Given the description of an element on the screen output the (x, y) to click on. 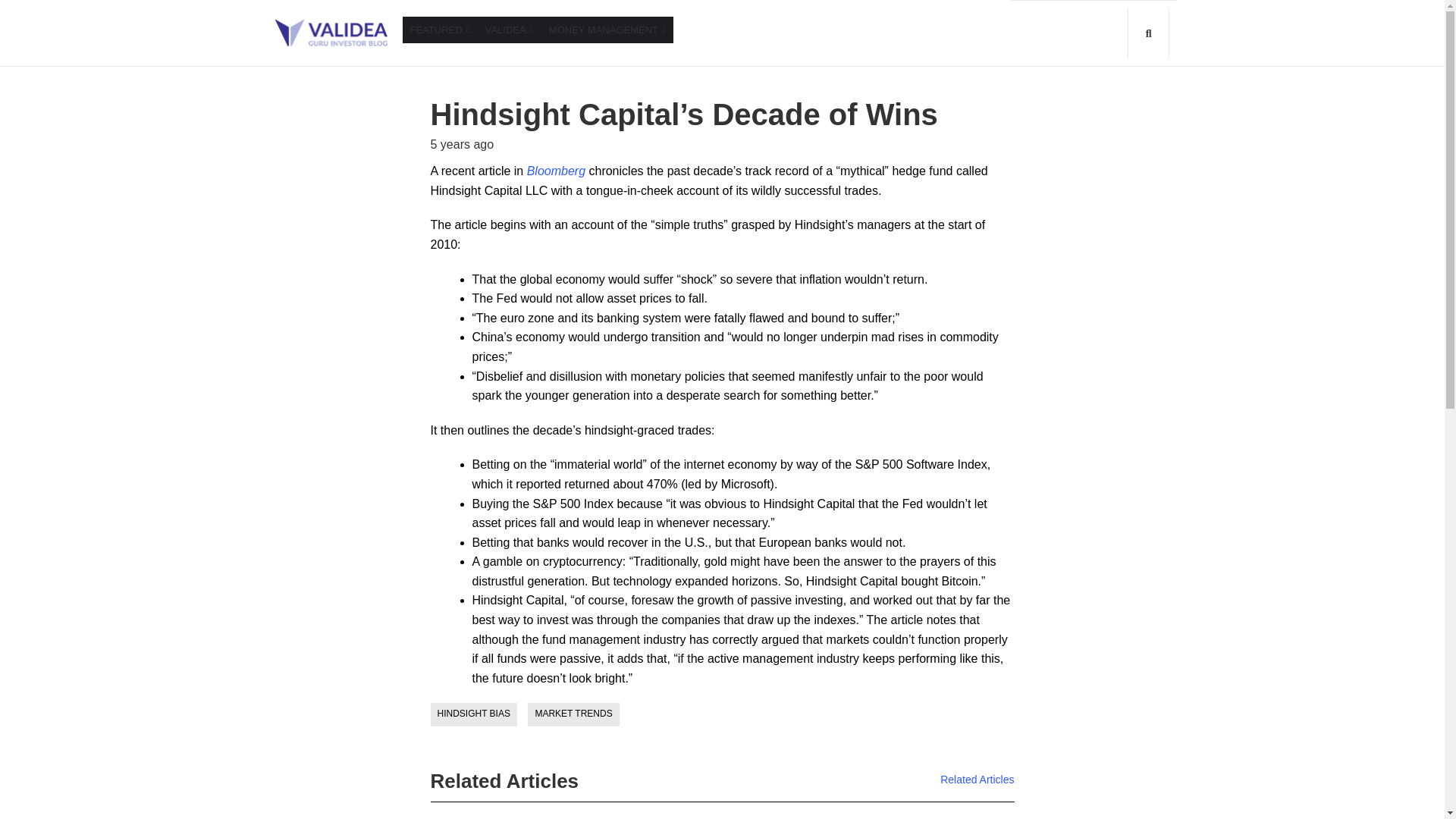
5 years ago (462, 144)
MONEY MANAGEMENT (606, 29)
Bloomberg (556, 170)
FEATURED (439, 29)
VALIDEA (509, 29)
HINDSIGHT BIAS (473, 713)
MARKET TRENDS (572, 713)
